Given the description of an element on the screen output the (x, y) to click on. 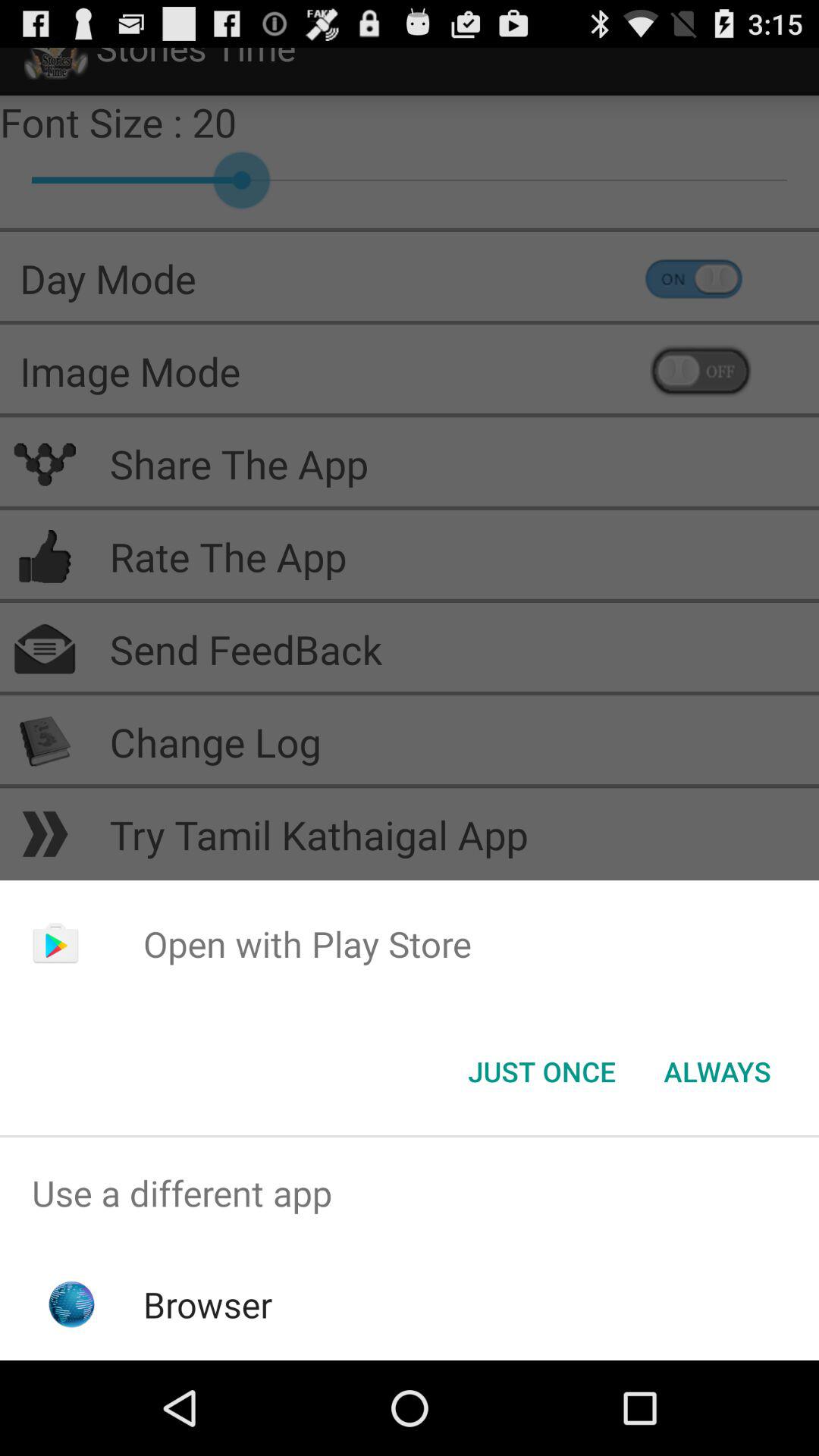
click the item below the open with play (717, 1071)
